Given the description of an element on the screen output the (x, y) to click on. 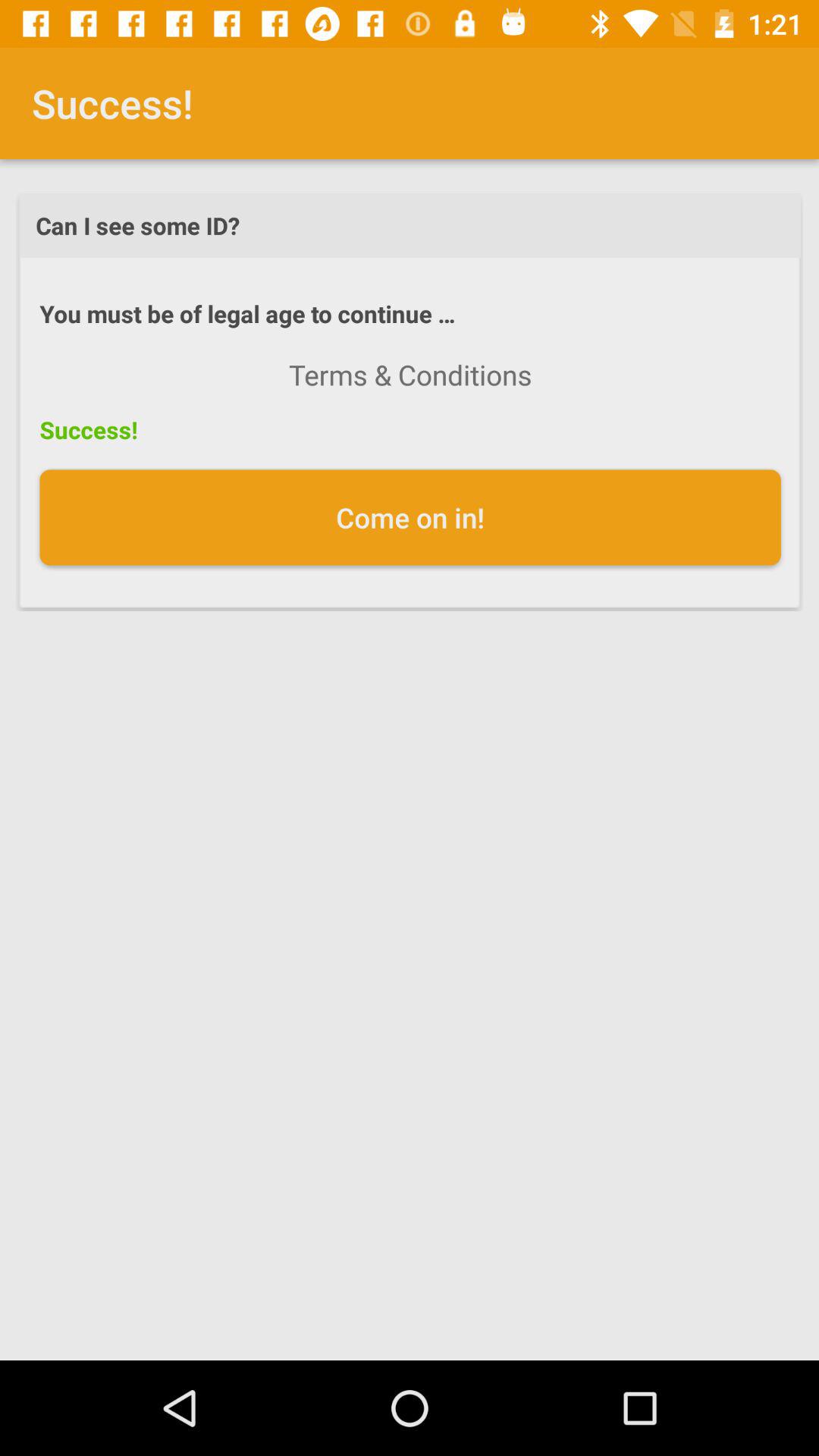
press item to the right of success! icon (409, 374)
